Given the description of an element on the screen output the (x, y) to click on. 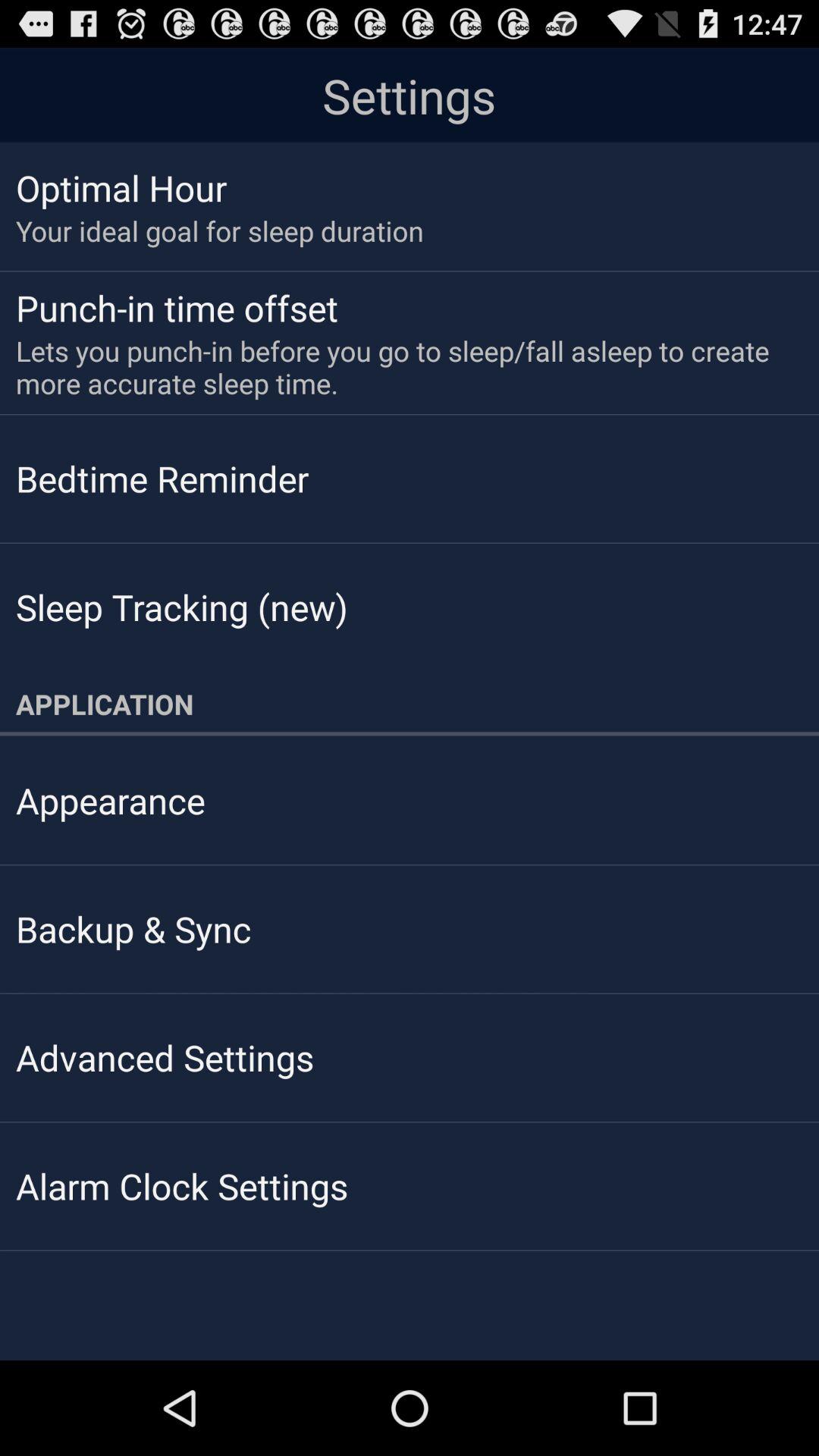
choose application app (409, 703)
